Given the description of an element on the screen output the (x, y) to click on. 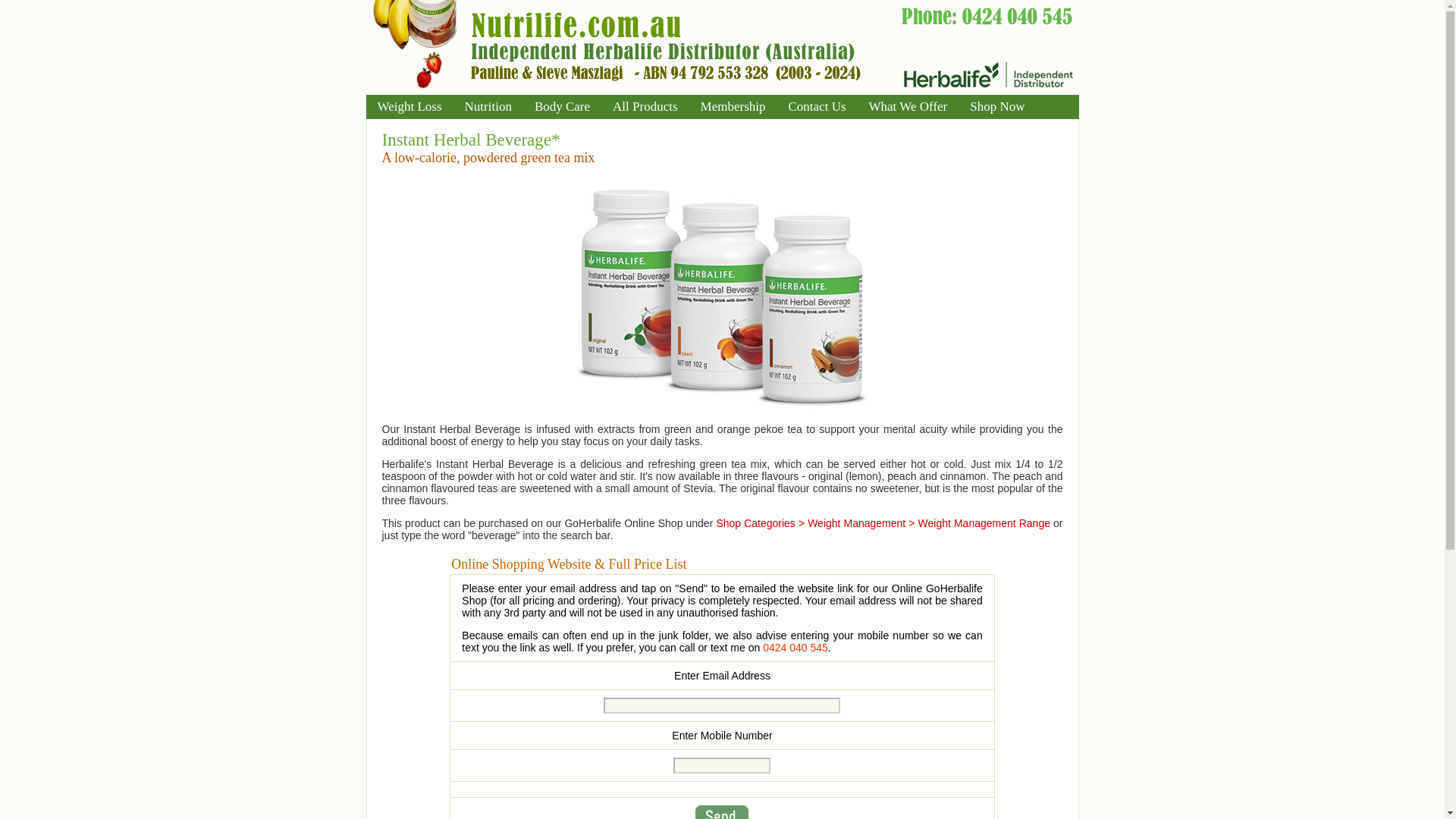
Membership (732, 106)
Shop Now (996, 106)
Weight Loss (408, 106)
Body Care (561, 106)
Nutrition (487, 106)
What We Offer (908, 106)
0424 040 545 (795, 647)
Contact Us (816, 106)
Send (721, 812)
All Products (644, 106)
